Given the description of an element on the screen output the (x, y) to click on. 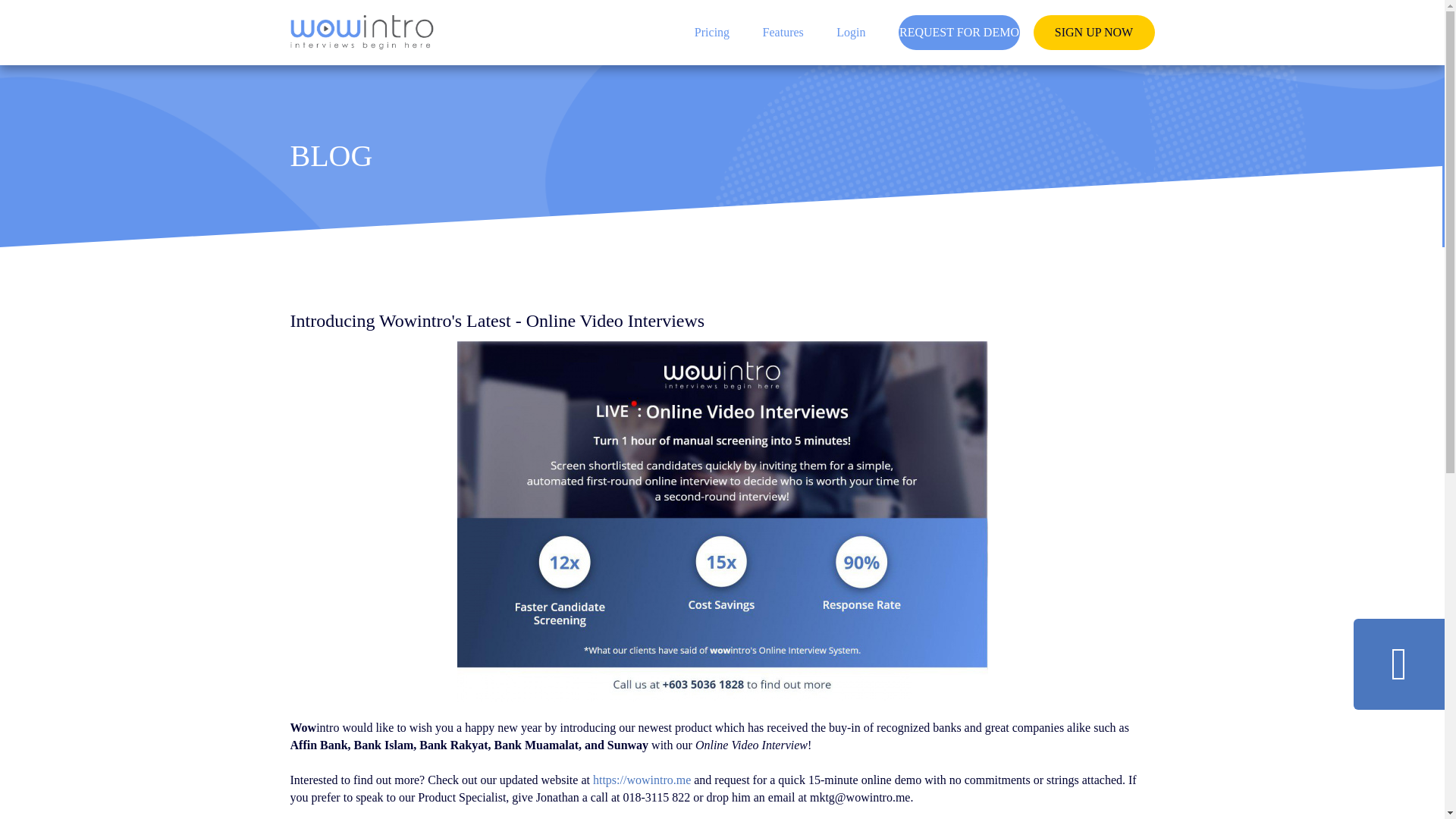
SIGN UP NOW (1093, 32)
REQUEST FOR DEMO (959, 32)
Pricing (711, 32)
Features (782, 32)
